Given the description of an element on the screen output the (x, y) to click on. 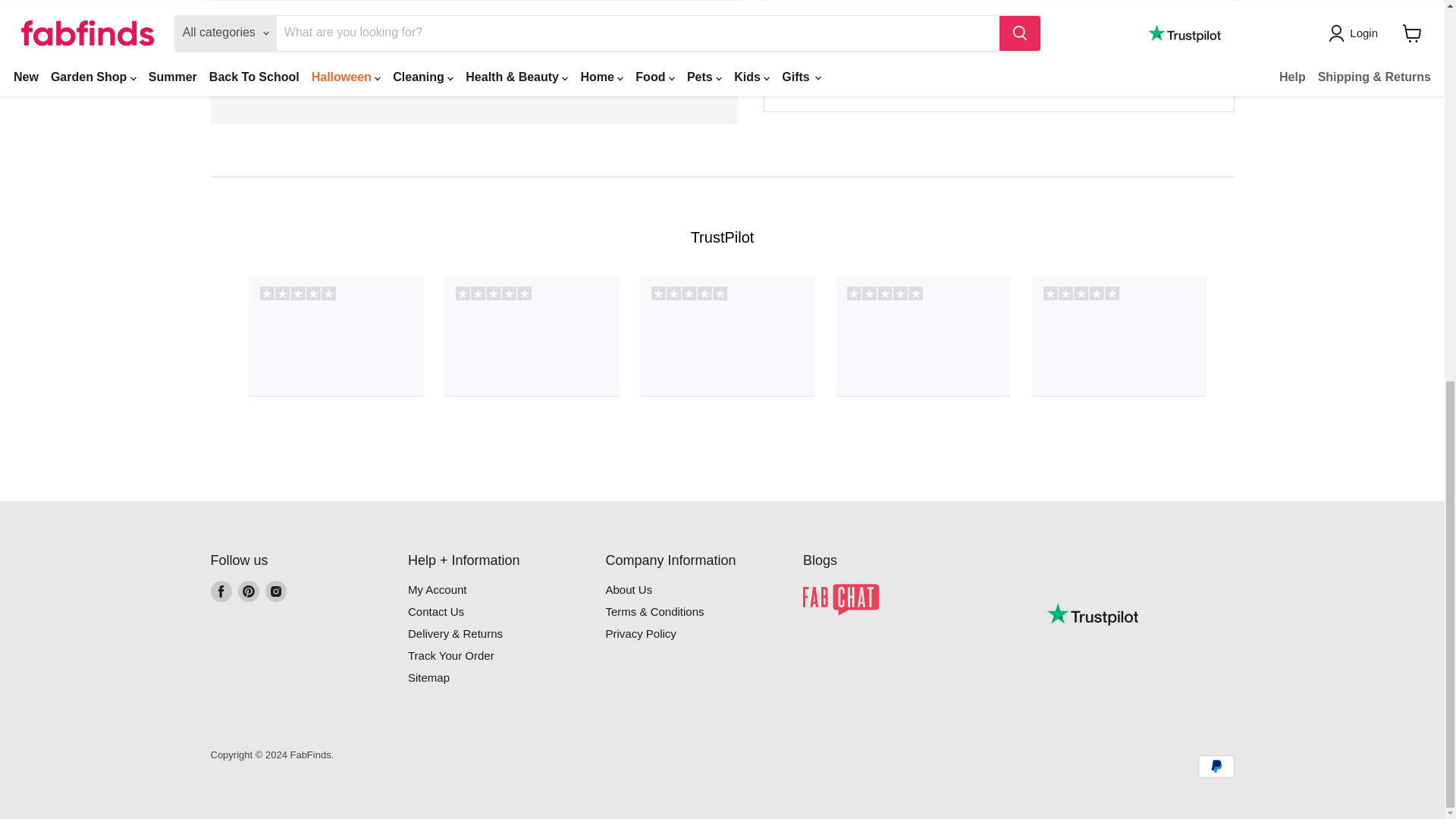
PayPal (1216, 766)
Facebook (221, 590)
Customer reviews powered by Trustpilot (1092, 613)
Instagram (275, 590)
Pinterest (248, 590)
